Given the description of an element on the screen output the (x, y) to click on. 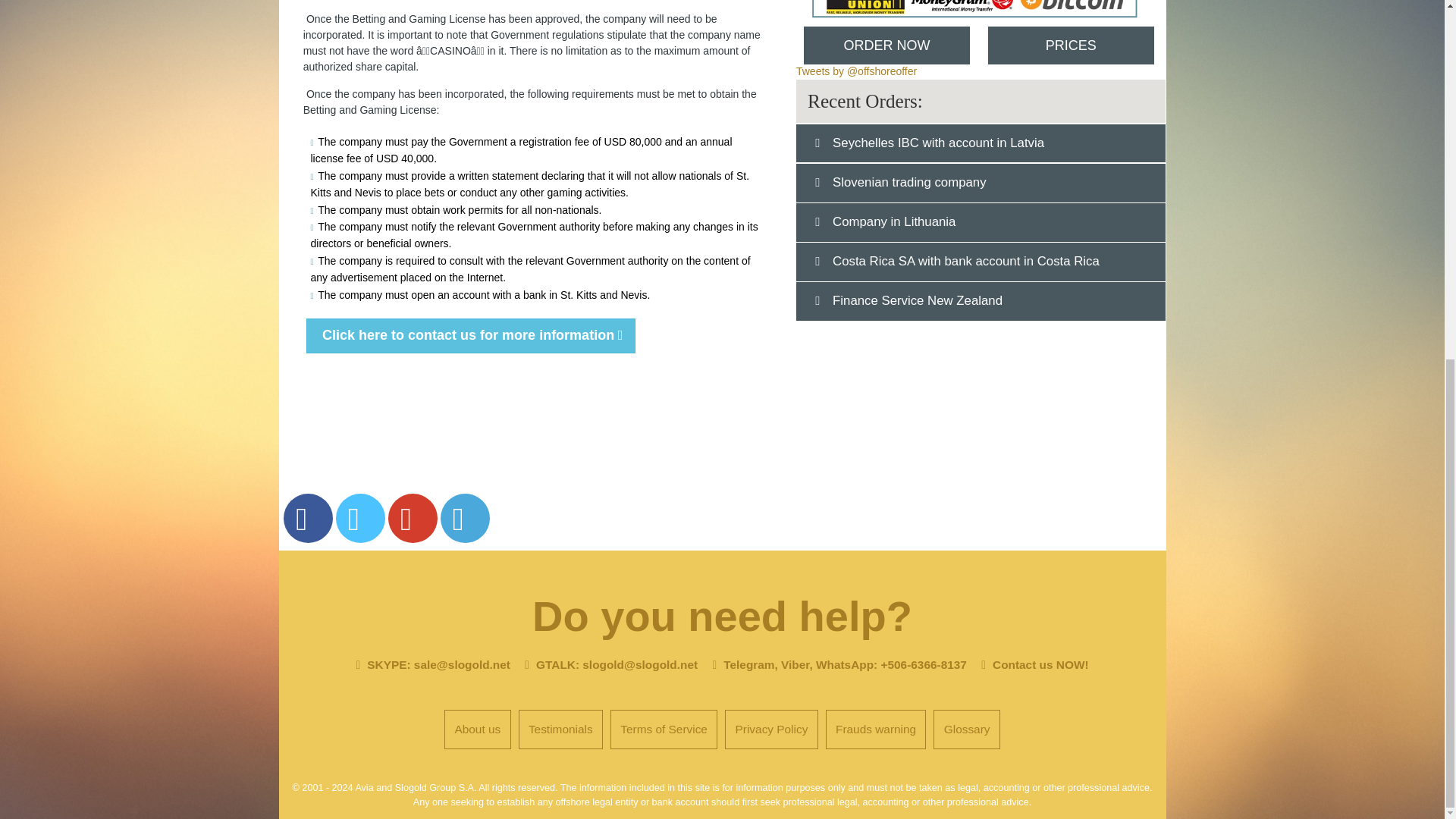
Click here to contact us for more information (469, 335)
Company in Lithuania (887, 221)
Contact us NOW! (1040, 664)
ORDER NOW (886, 45)
Seychelles IBC with account in Latvia (931, 142)
Slovenian trading company (902, 182)
Costa Rica SA with bank account in Costa Rica (959, 260)
PRICES (1070, 45)
Finance Service New Zealand (911, 300)
